Given the description of an element on the screen output the (x, y) to click on. 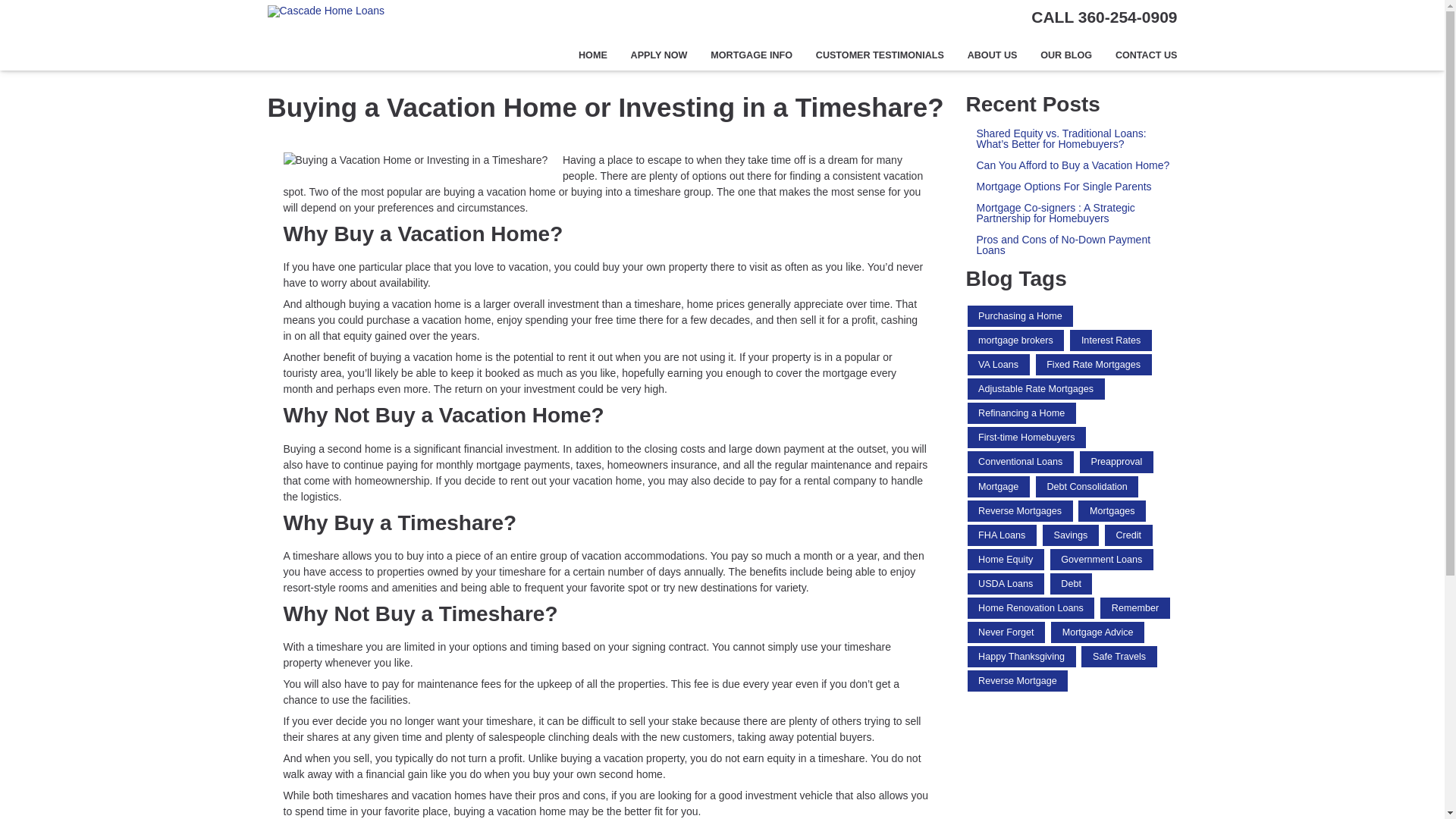
Can You Afford to Buy a Vacation Home? (1071, 164)
Refinancing a Home (1021, 413)
OUR BLOG (1066, 54)
First-time Homebuyers (1027, 436)
Pros and Cons of No-Down Payment Loans (1071, 244)
Adjustable Rate Mortgages (1036, 388)
Mortgage Options For Single Parents (1071, 185)
Fixed Rate Mortgages (1093, 364)
Preapproval (1116, 461)
CUSTOMER TESTIMONIALS (879, 54)
Interest Rates (1110, 340)
Reverse Mortgages (1020, 510)
MORTGAGE INFO (751, 54)
ABOUT US (992, 54)
mortgage brokers (1016, 340)
